Given the description of an element on the screen output the (x, y) to click on. 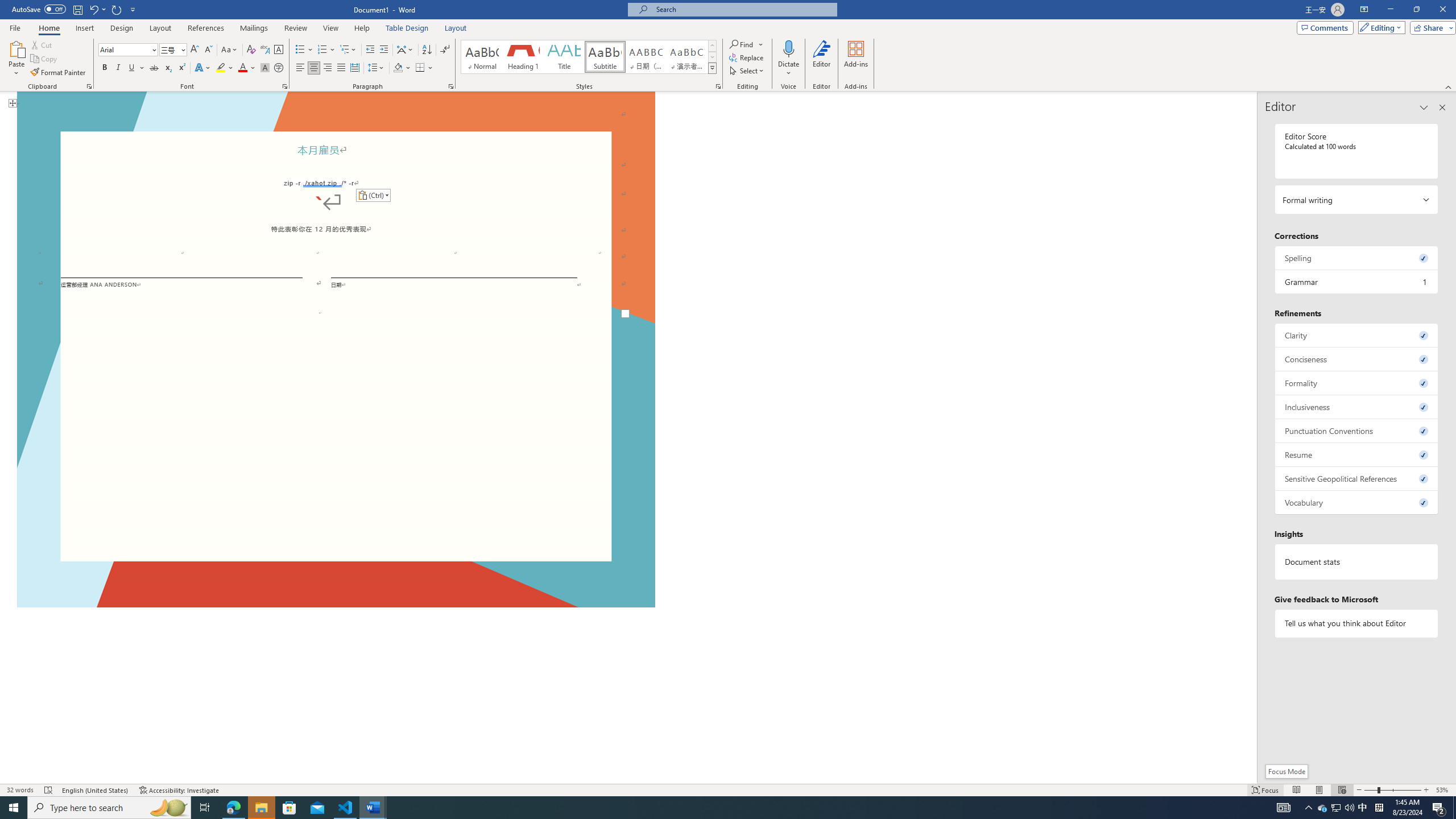
Formality, 0 issues. Press space or enter to review items. (1356, 382)
Focus Mode (1286, 771)
Spelling, 0 issues. Press space or enter to review items. (1356, 257)
Undo Paste (96, 9)
